Given the description of an element on the screen output the (x, y) to click on. 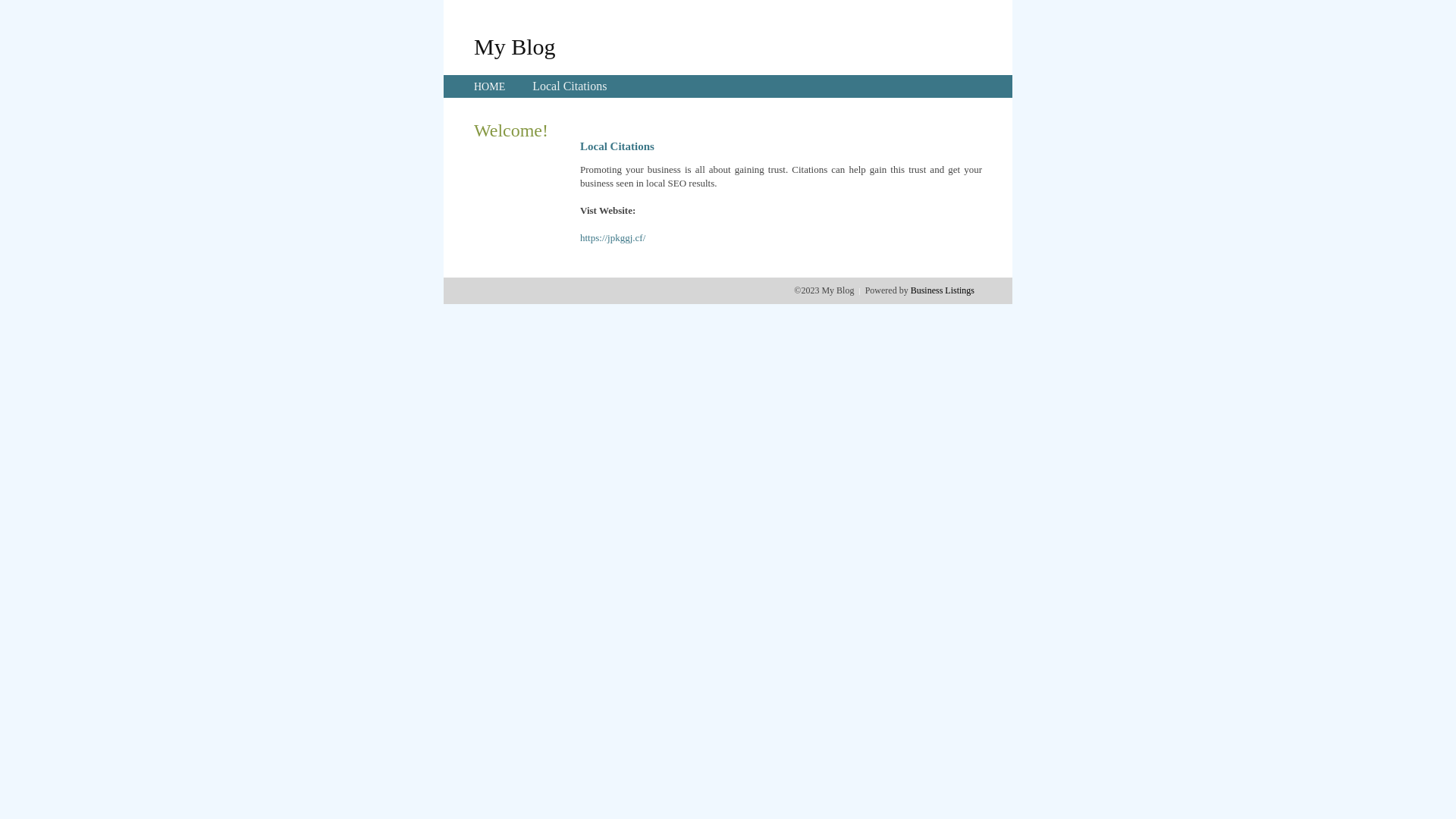
My Blog Element type: text (514, 46)
Local Citations Element type: text (569, 85)
Business Listings Element type: text (942, 290)
https://jpkggj.cf/ Element type: text (612, 237)
HOME Element type: text (489, 86)
